Given the description of an element on the screen output the (x, y) to click on. 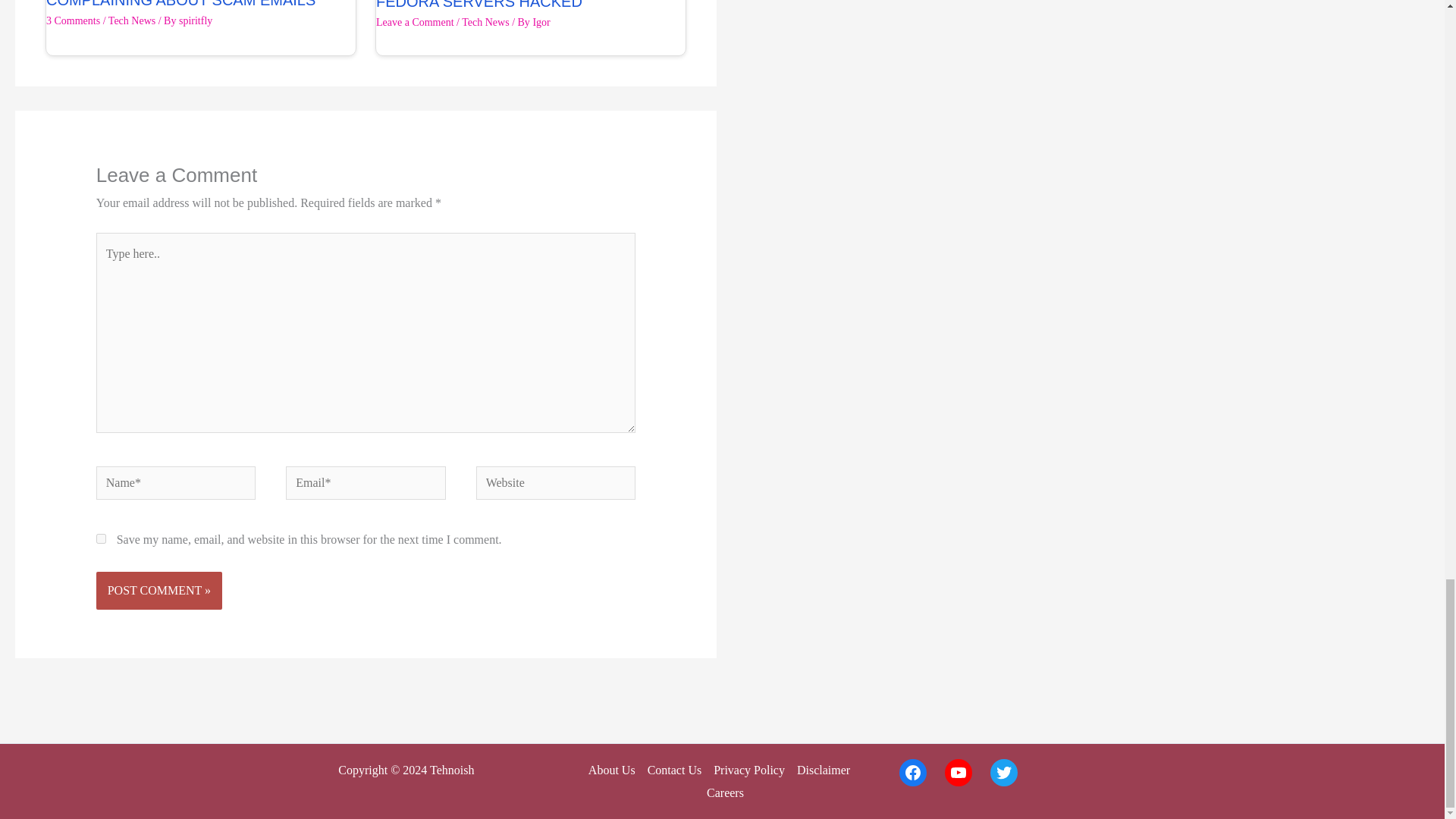
View all posts by spiritfly (195, 20)
View all posts by Igor (541, 21)
yes (101, 538)
